Given the description of an element on the screen output the (x, y) to click on. 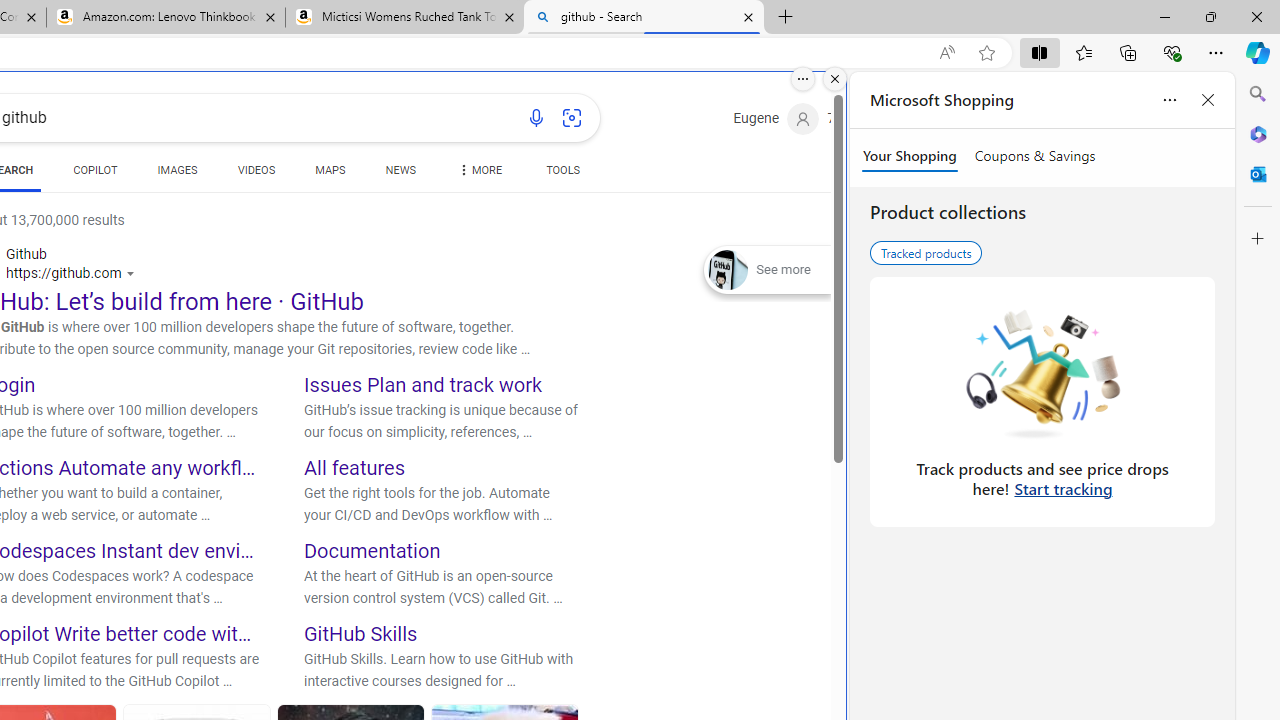
Dropdown Menu (478, 170)
Search using voice (536, 117)
Actions for this site (132, 273)
Documentation (372, 550)
